Given the description of an element on the screen output the (x, y) to click on. 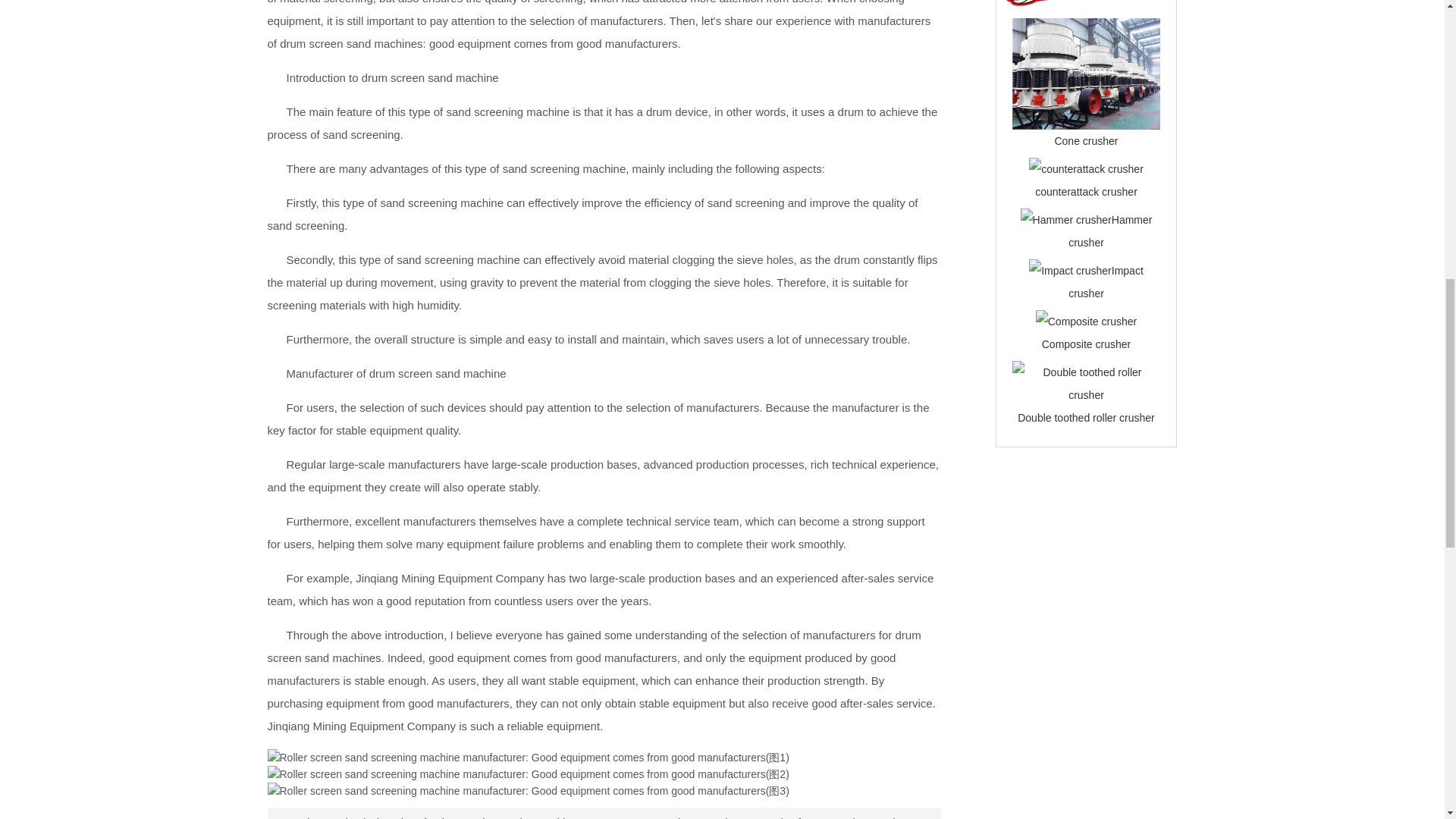
Cone crusher (1086, 141)
Hammer crusher (1109, 230)
Composite crusher (1086, 321)
Hammer crusher (1066, 219)
Hammer crusher (1109, 230)
Cone crusher (1085, 73)
Cone crusher (1086, 141)
counterattack crusher (1086, 191)
Composite crusher (1086, 344)
Impact crusher (1105, 281)
Double toothed roller crusher (1085, 383)
Double toothed roller crusher (1085, 417)
Composite crusher (1086, 344)
